Given the description of an element on the screen output the (x, y) to click on. 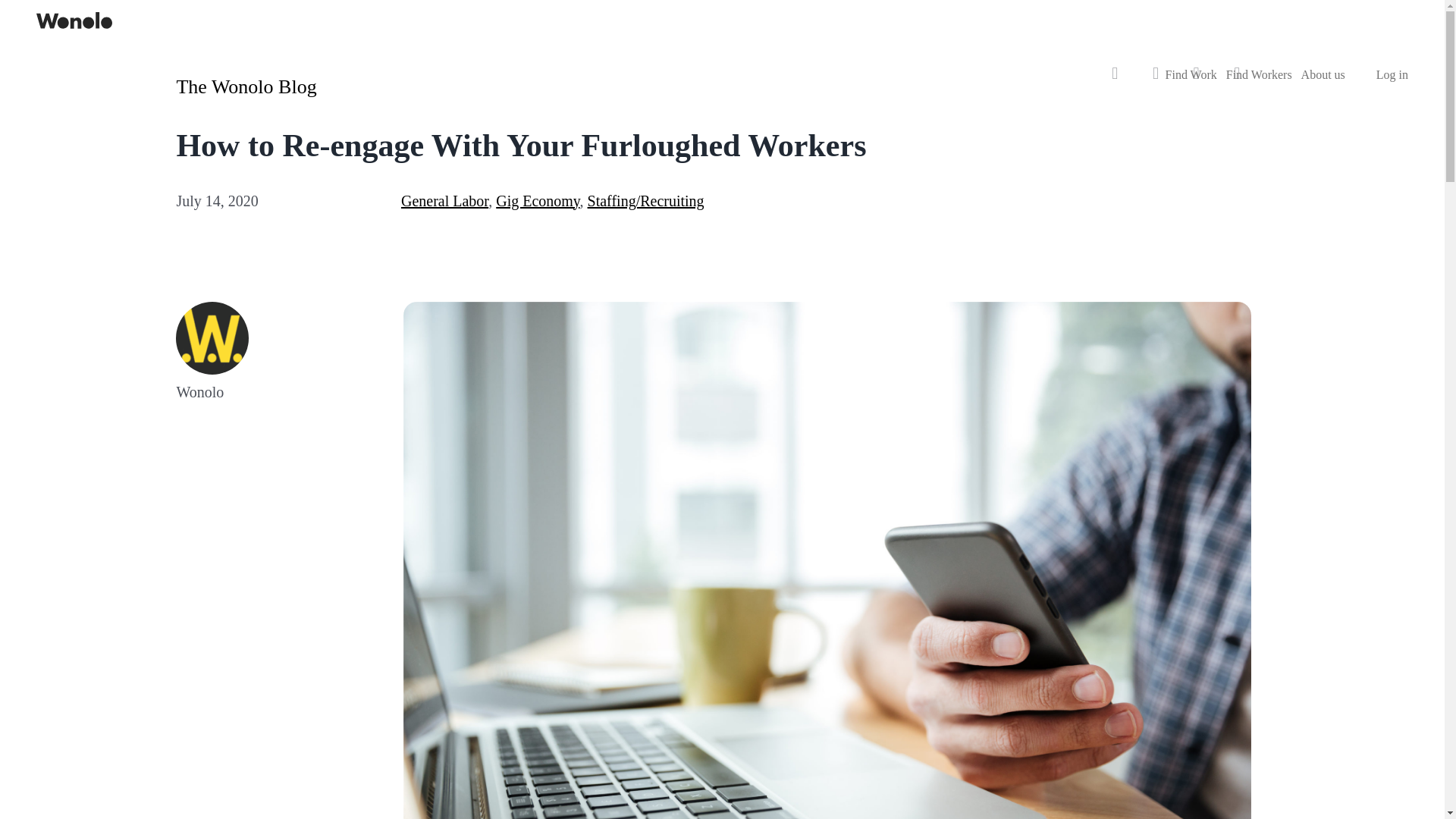
General Labor (444, 200)
Gig Economy (537, 200)
Find Work (1191, 75)
Log in (1391, 75)
Find Workers (1258, 75)
LinkedIn (1197, 80)
Gig Economy (537, 200)
About us (1331, 75)
Email (1237, 80)
Facebook (1115, 80)
Twitter (1156, 80)
The Wonolo Blog (245, 86)
General Labor (444, 200)
